Given the description of an element on the screen output the (x, y) to click on. 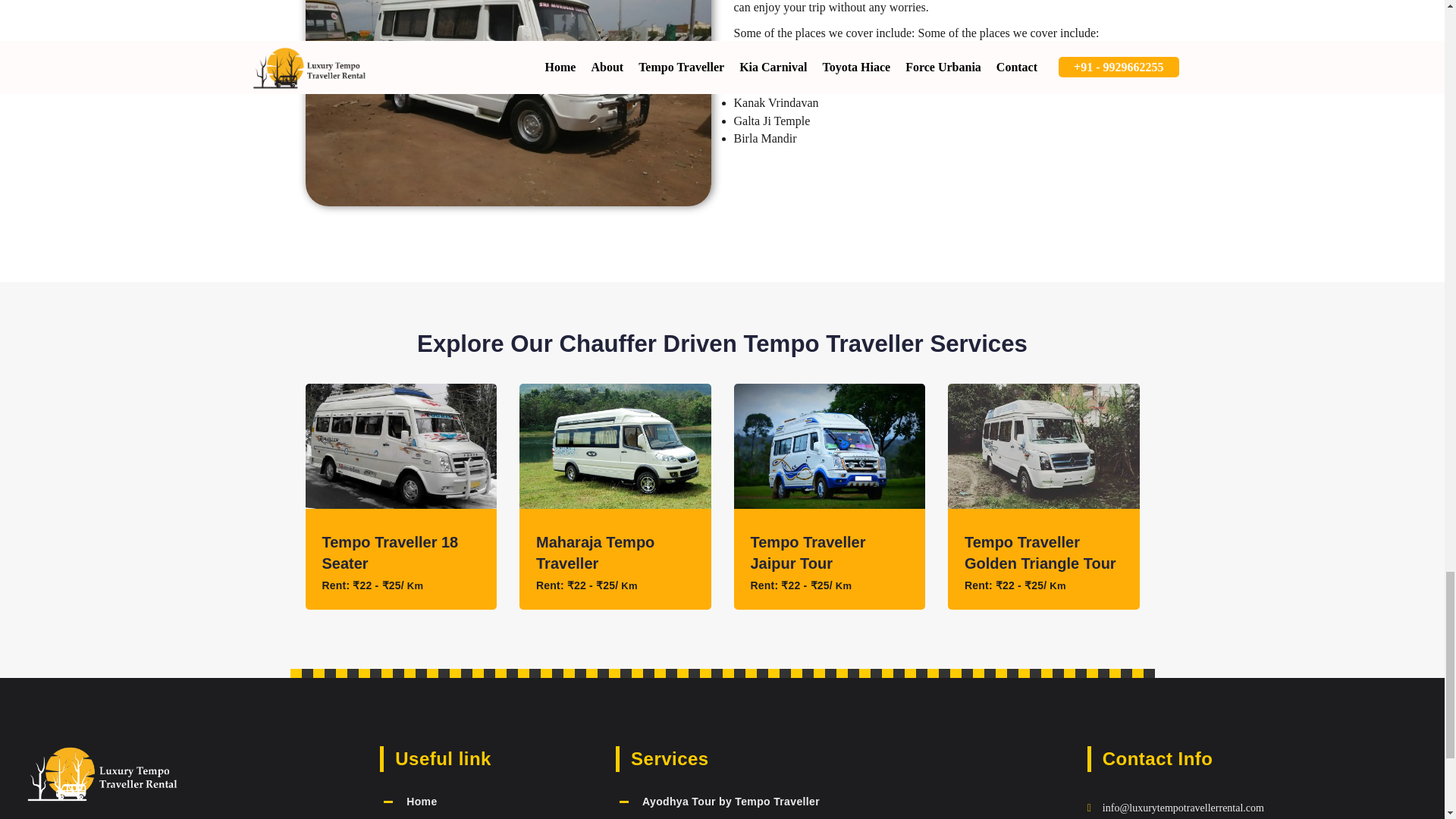
Home (421, 801)
Tempo Traveller Golden Triangle Tour (1039, 552)
Tempo Traveller Jaipur Tour (808, 552)
Tempo Traveller 18 Seater (389, 552)
Ayodhya Tour by Tempo Traveller (730, 801)
Maharaja Tempo Traveller (594, 552)
